Given the description of an element on the screen output the (x, y) to click on. 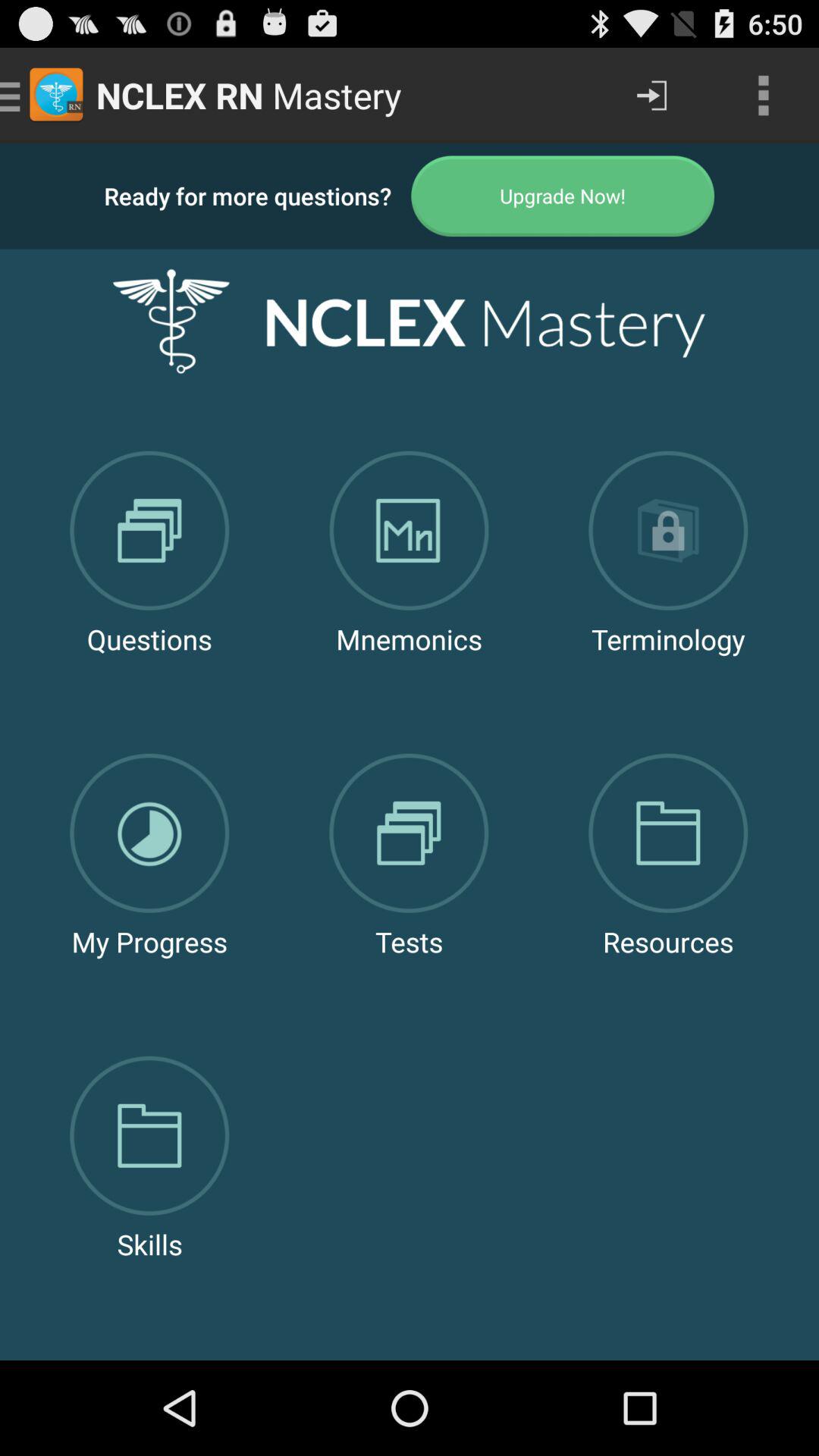
press the icon next to nclex rn mastery app (651, 95)
